Given the description of an element on the screen output the (x, y) to click on. 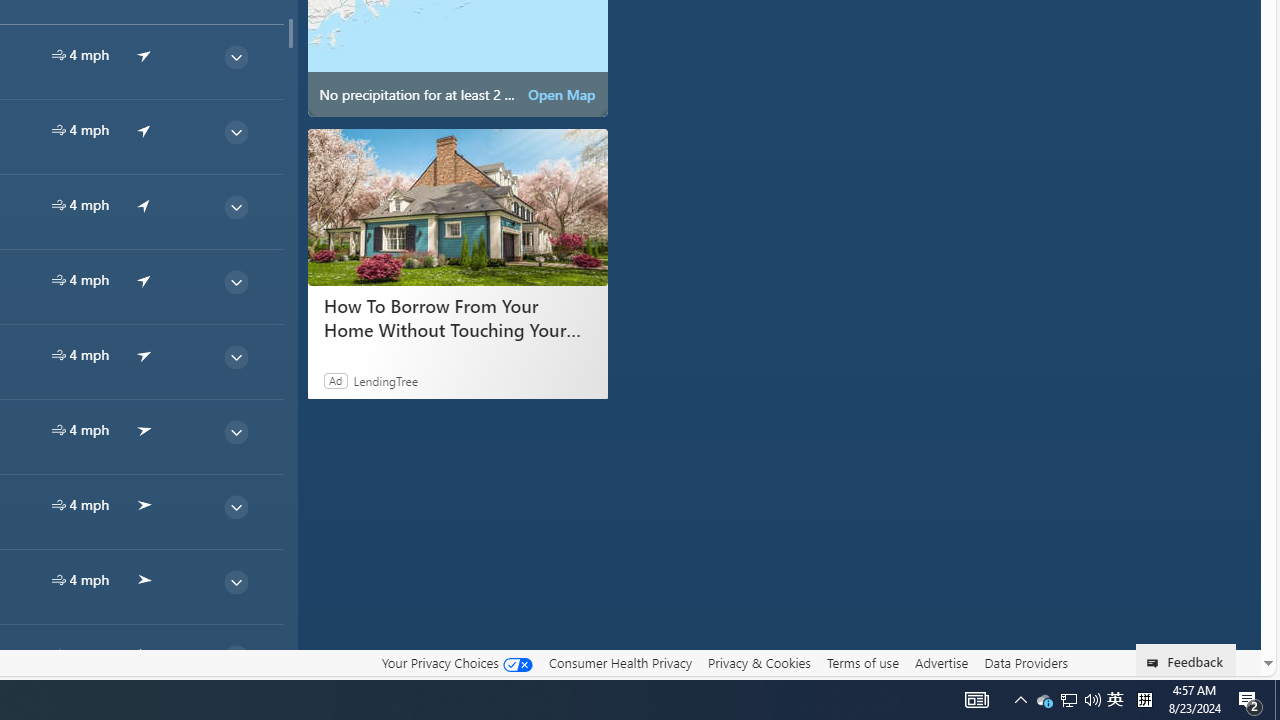
Class: feedback_link_icon-DS-EntryPoint1-1 (1156, 663)
Data Providers (1025, 662)
